Given the description of an element on the screen output the (x, y) to click on. 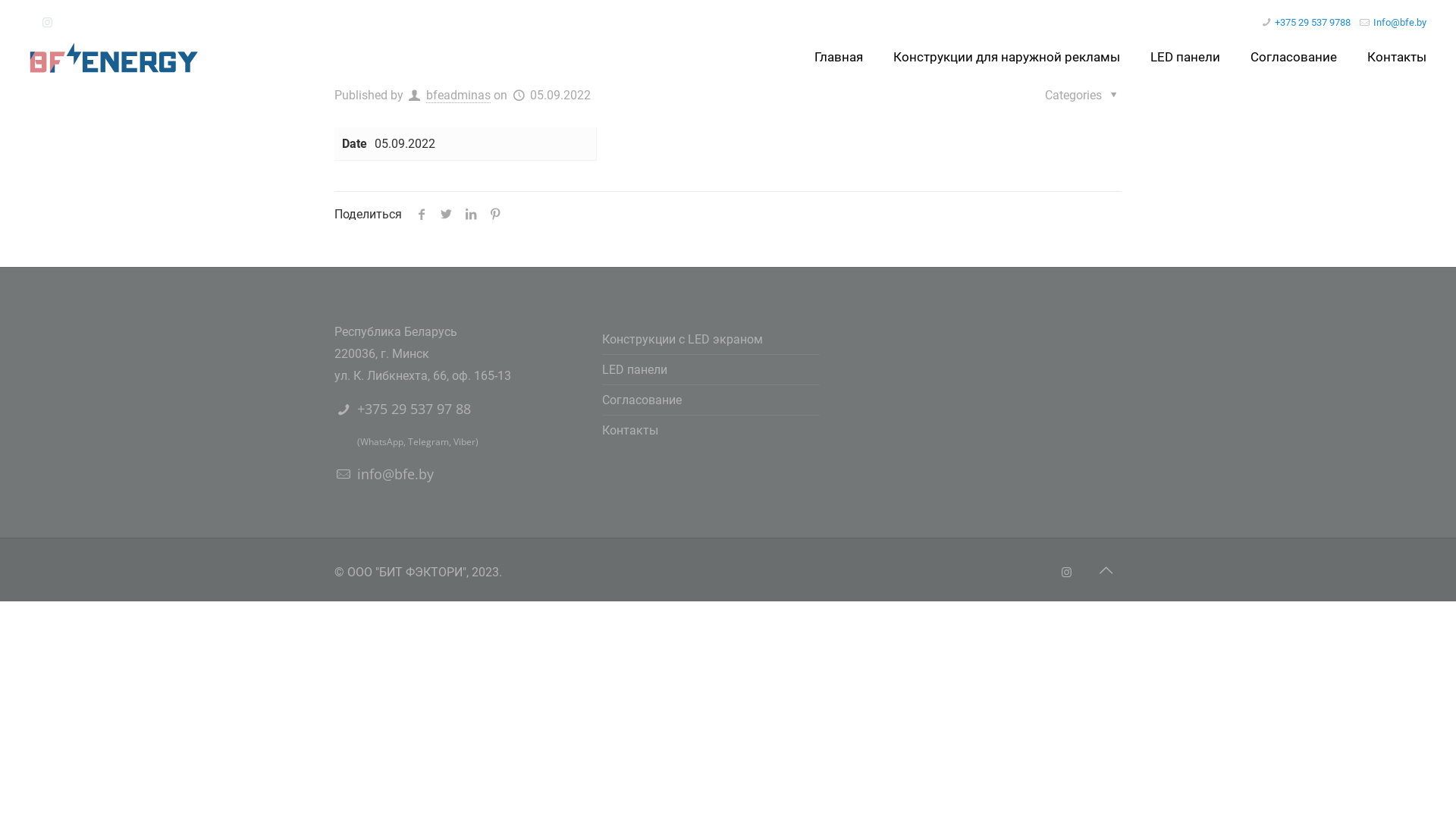
info@bfe.by Element type: text (395, 473)
WhatsApp Element type: text (381, 441)
Instagram Element type: hover (1066, 572)
bfeadminas Element type: text (458, 95)
+375 29 537 97 88 Element type: text (413, 408)
Telegram Element type: text (427, 441)
Instagram Element type: hover (47, 22)
BFE.by Element type: hover (114, 56)
Info@bfe.by Element type: text (1399, 22)
Viber Element type: text (464, 441)
+375 29 537 9788 Element type: text (1312, 22)
